Given the description of an element on the screen output the (x, y) to click on. 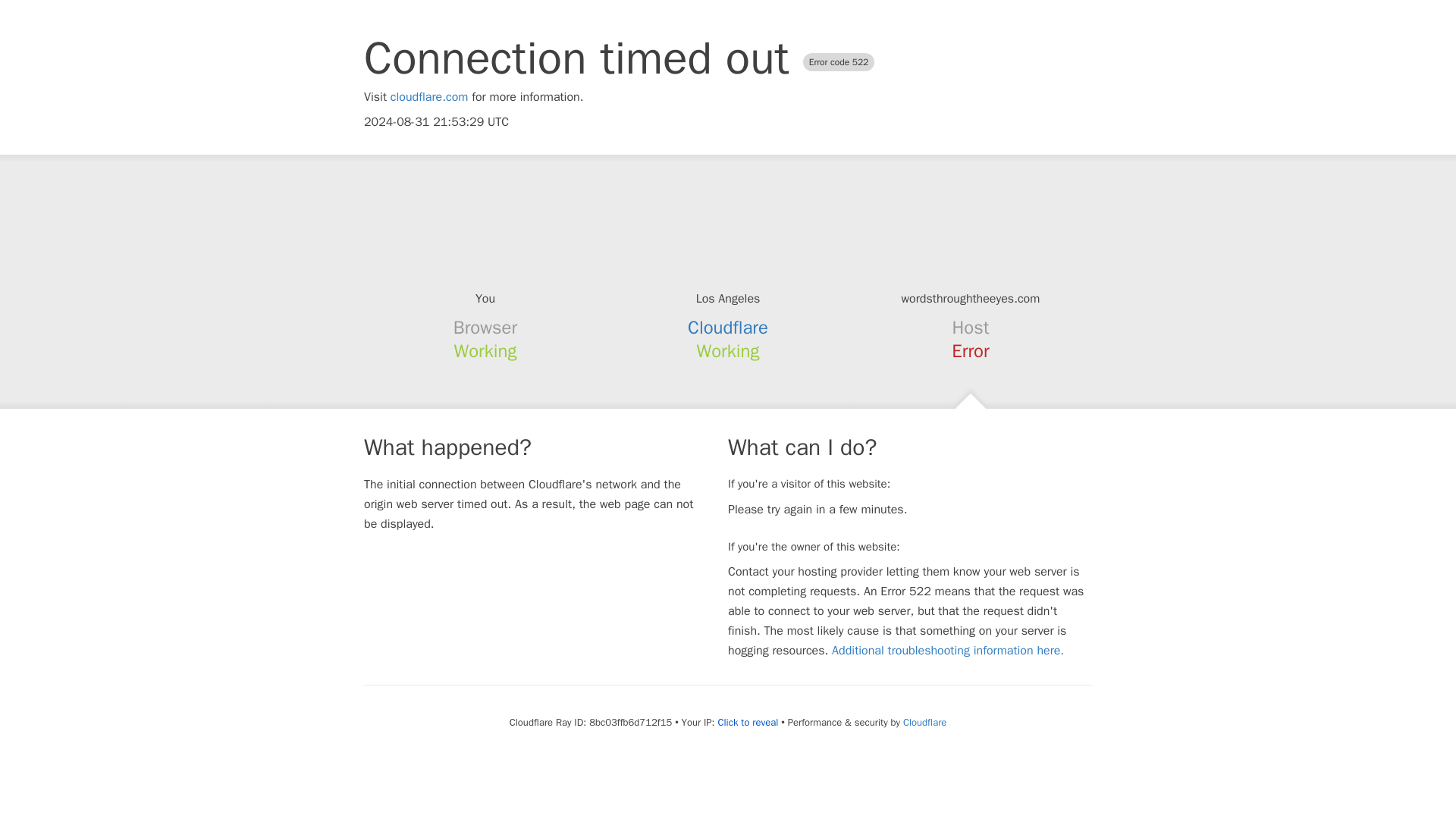
cloudflare.com (429, 96)
Additional troubleshooting information here. (947, 650)
Click to reveal (747, 722)
Cloudflare (924, 721)
Cloudflare (727, 327)
